Given the description of an element on the screen output the (x, y) to click on. 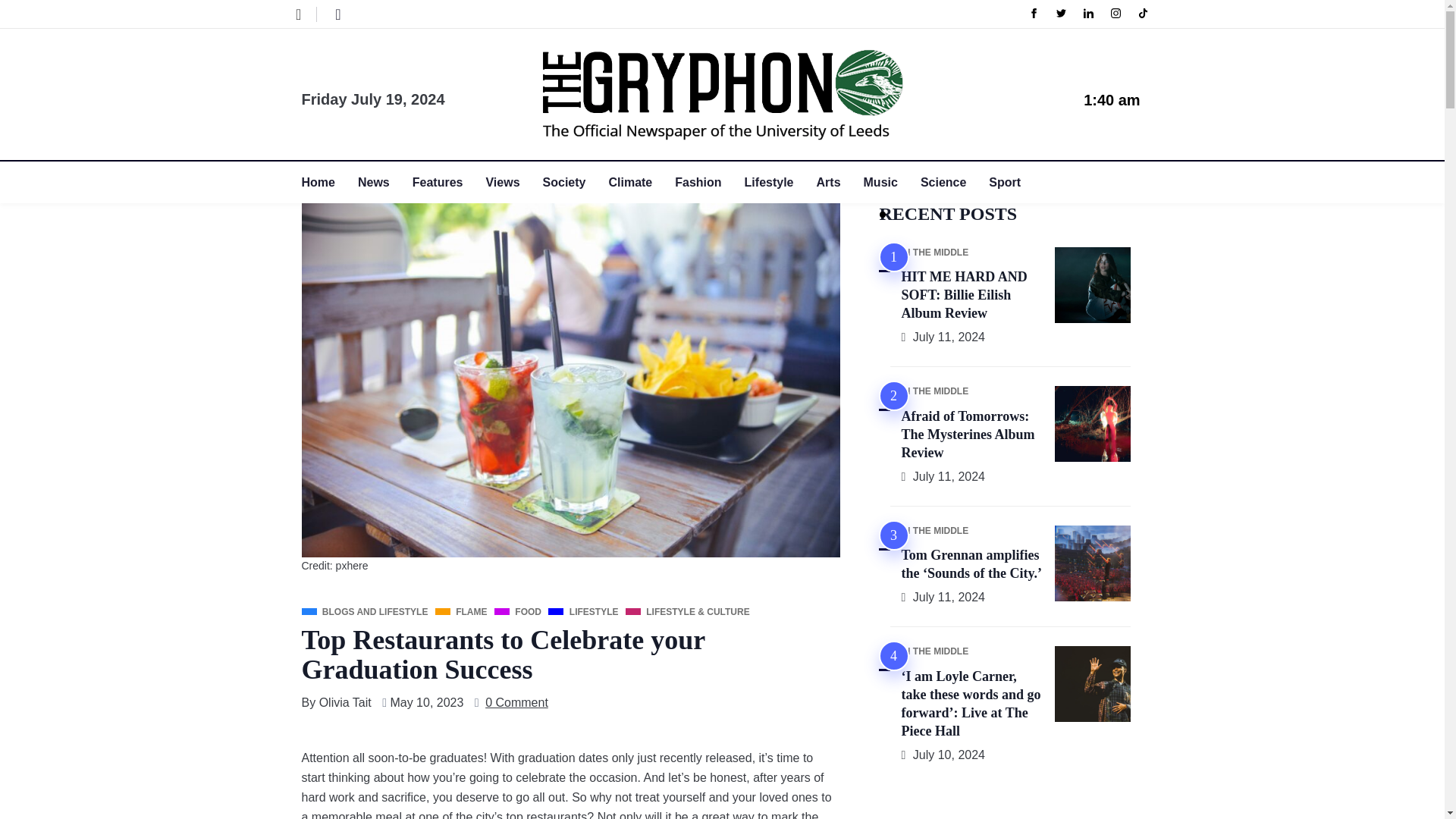
Afraid of Tomorrows: The Mysterines Album Review (967, 435)
HIT ME HARD AND SOFT: Billie Eilish Album Review (963, 295)
